Given the description of an element on the screen output the (x, y) to click on. 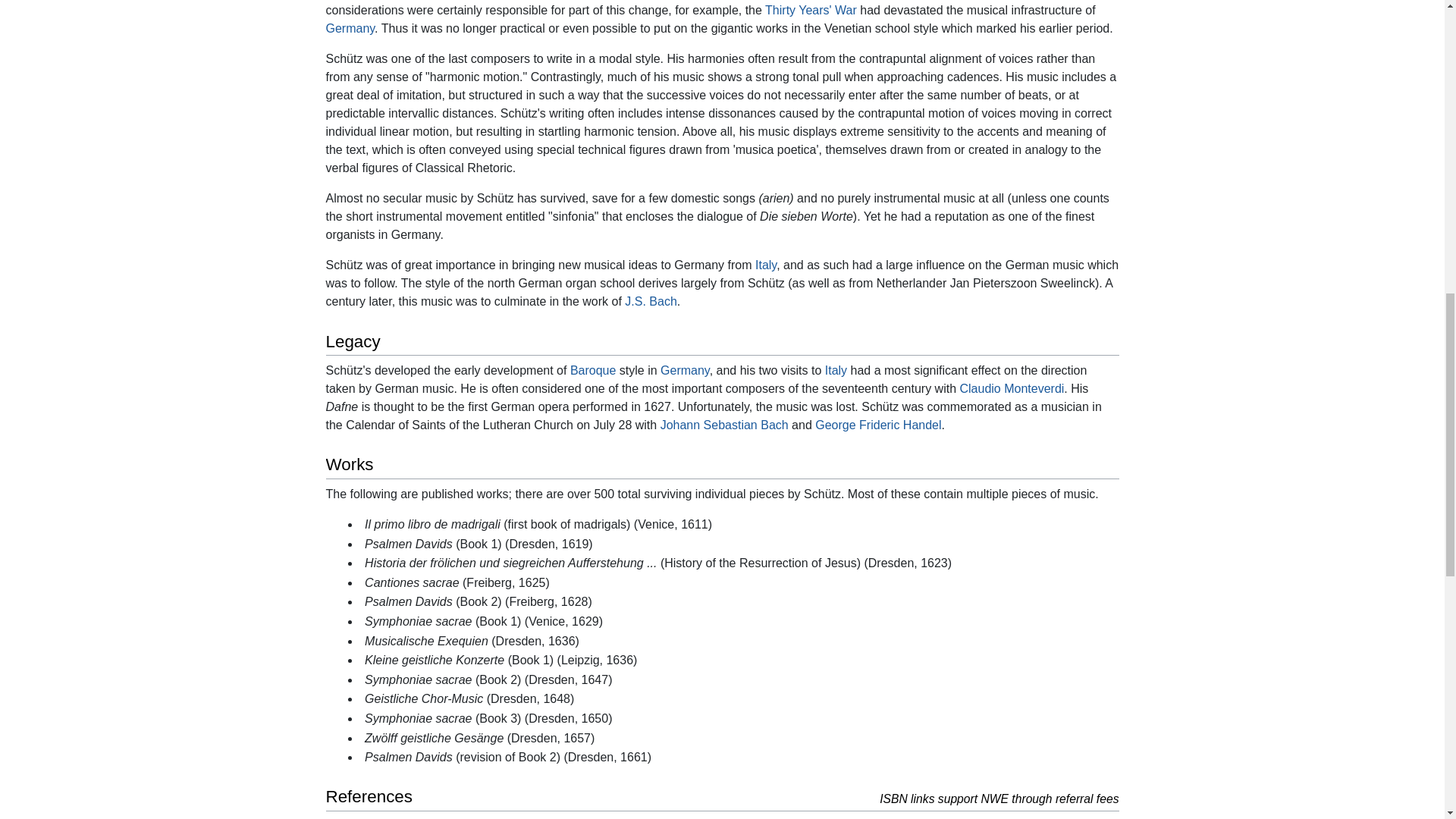
Germany (350, 28)
Claudio Monteverdi (1011, 388)
Germany (685, 369)
Thirty Years' War (811, 10)
George Frideric Handel (877, 424)
Italy (765, 264)
Germany (350, 28)
Italy (836, 369)
Johann Sebastian Bach (725, 424)
Baroque (592, 369)
